Given the description of an element on the screen output the (x, y) to click on. 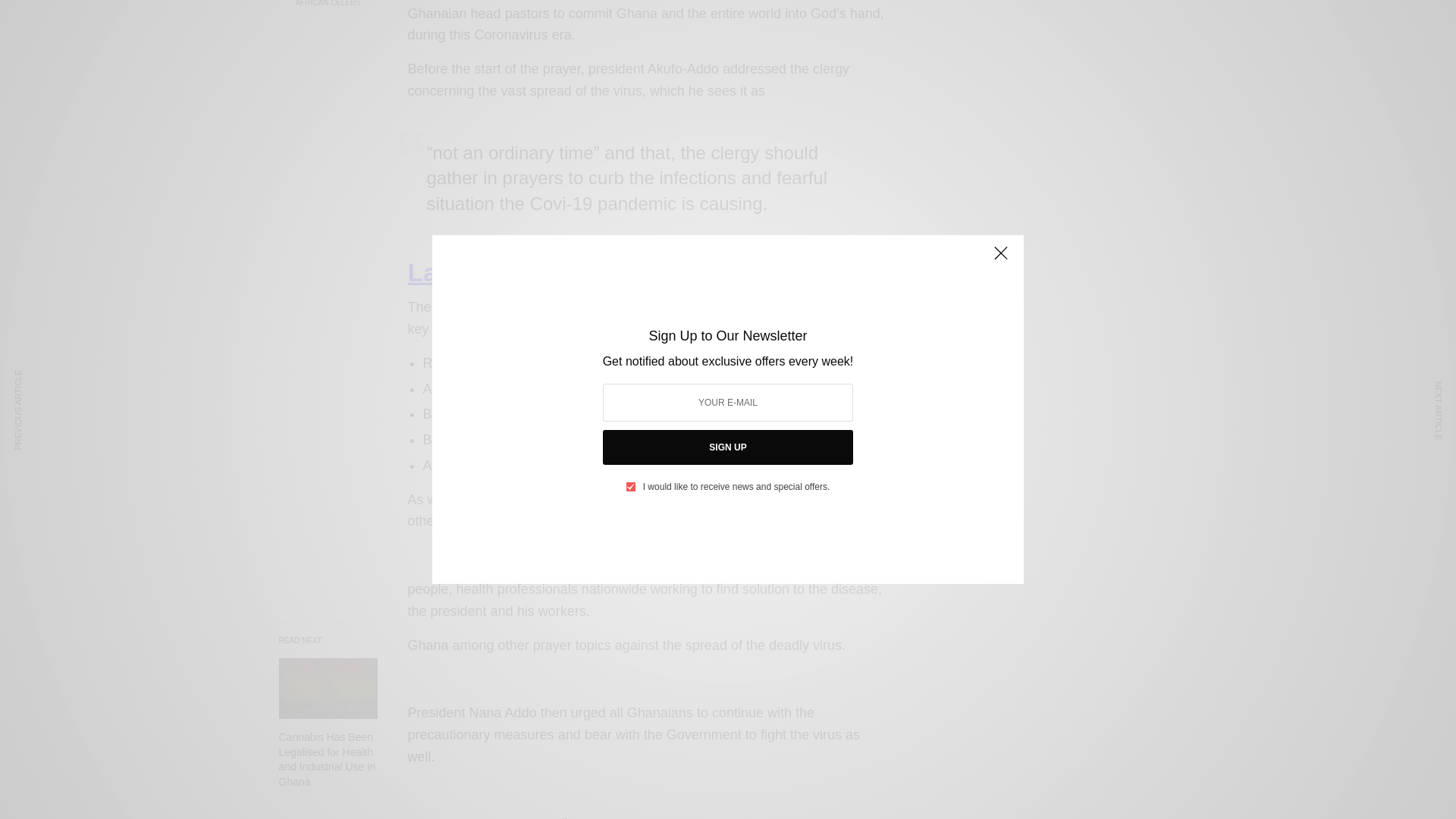
AFRICAN CELEBS (328, 3)
